Given the description of an element on the screen output the (x, y) to click on. 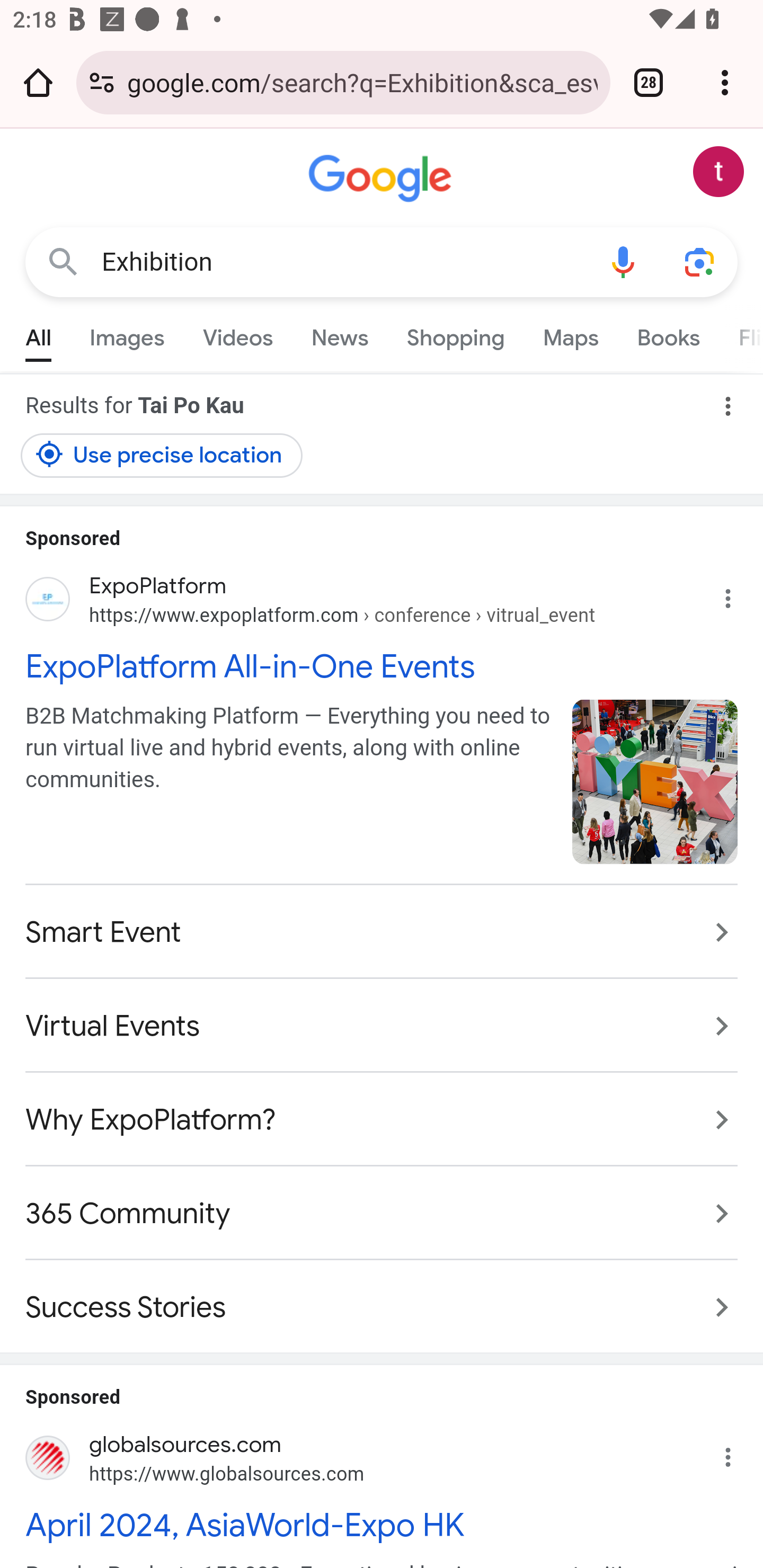
Open the home page (38, 82)
Connection is secure (101, 82)
Switch or close tabs (648, 82)
Customize and control Google Chrome (724, 82)
Google (381, 179)
Google Search (63, 262)
Search using your camera or photos (699, 262)
Exhibition (343, 261)
Images (127, 333)
Videos (237, 333)
News (338, 333)
Shopping (455, 333)
Maps (570, 333)
Books (668, 333)
Flights (740, 333)
Use precise location (161, 455)
Why this ad? (738, 594)
ExpoPlatform All-in-One Events (381, 665)
Image from expoplatform.com (654, 780)
Smart Event (381, 931)
Virtual Events (381, 1025)
Why ExpoPlatform? (381, 1119)
365 Community (381, 1213)
Success Stories (381, 1297)
Why this ad? (738, 1452)
April 2024, AsiaWorld-Expo HK (381, 1525)
